Given the description of an element on the screen output the (x, y) to click on. 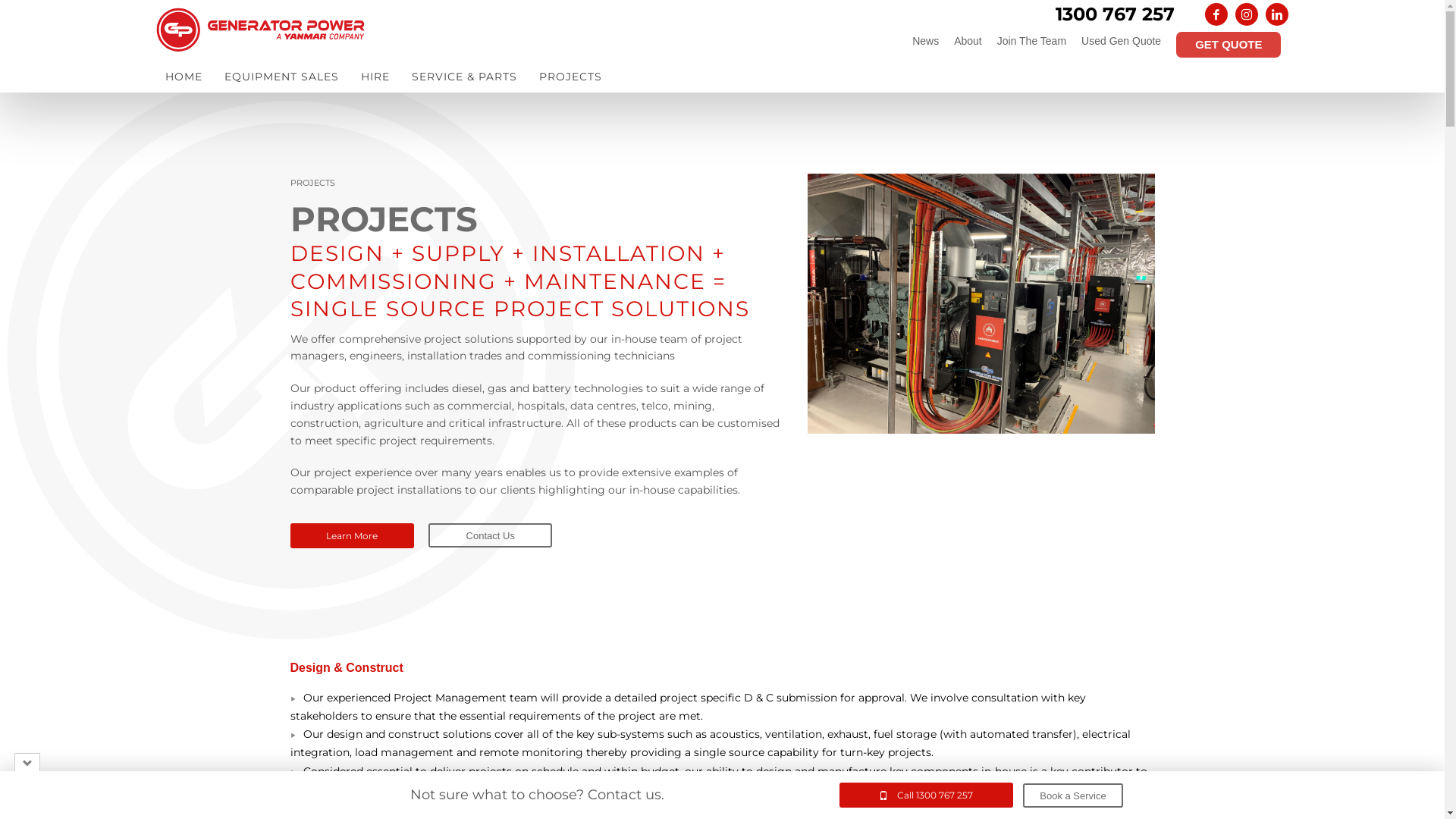
SERVICE & PARTS Element type: text (463, 76)
About Element type: text (967, 40)
GET QUOTE Element type: text (1228, 44)
News Element type: text (925, 40)
Used Gen Quote Element type: text (1121, 40)
1300 767 257 Element type: text (1114, 14)
IMG-8140 Element type: hover (980, 303)
Instagram Element type: hover (1246, 14)
PROJECTS Element type: text (569, 76)
Book a Service Element type: text (1072, 795)
EQUIPMENT SALES Element type: text (281, 76)
Contact Us Element type: text (490, 535)
Call 1300 767 257 Element type: text (926, 794)
Generator Power Element type: hover (261, 30)
Facebook Element type: hover (1215, 14)
HOME Element type: text (183, 76)
Learn More Element type: text (351, 535)
Join The Team Element type: text (1031, 40)
HIRE Element type: text (374, 76)
LinkedIn Element type: hover (1276, 14)
